Given the description of an element on the screen output the (x, y) to click on. 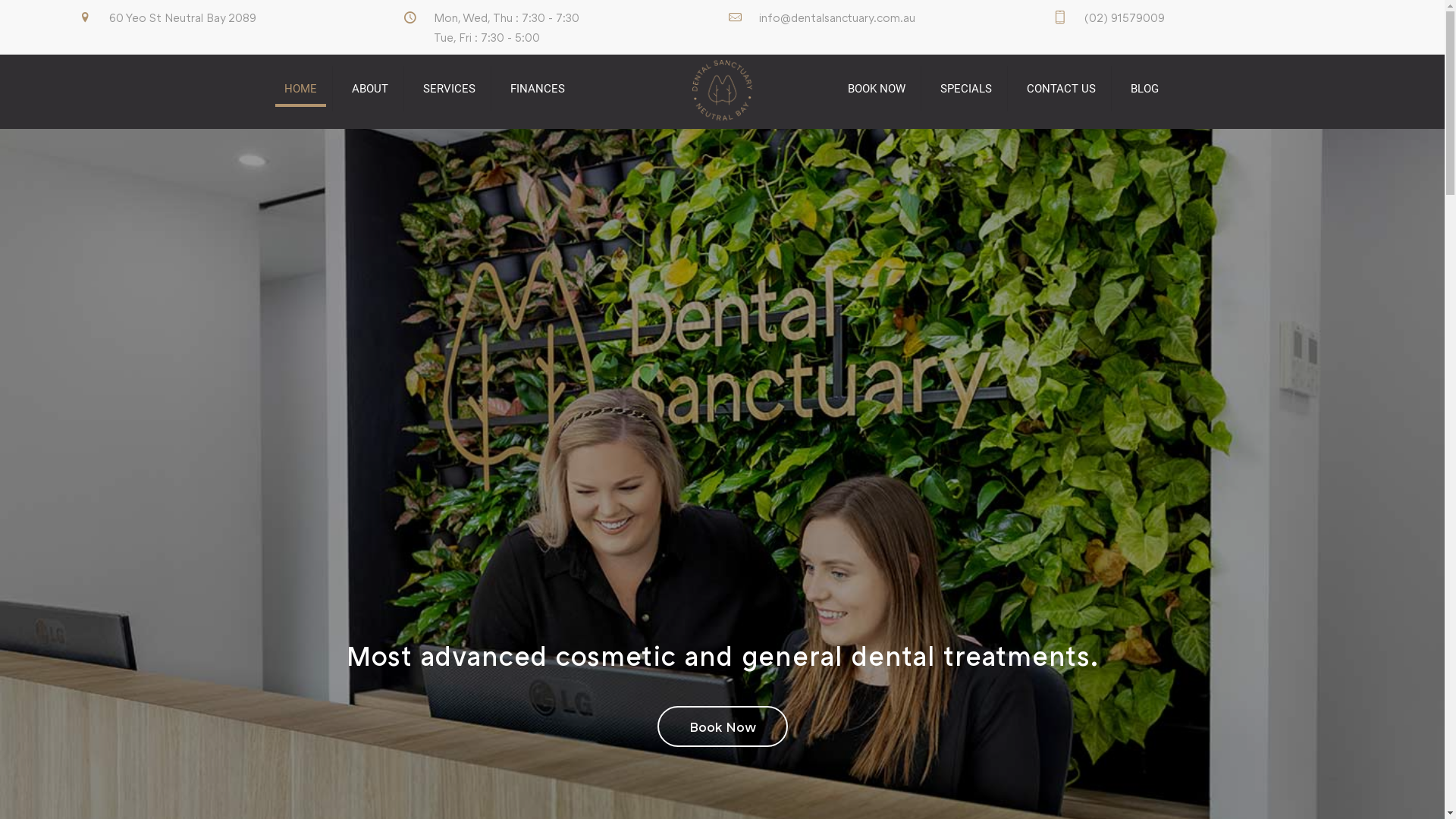
Dental Sanctuary Element type: hover (722, 88)
Book Now Element type: text (721, 726)
info@dentalsanctuary.com.au Element type: text (837, 17)
(02) 91579009 Element type: text (1124, 17)
FINANCES Element type: text (536, 88)
SPECIALS Element type: text (966, 88)
BOOK NOW Element type: text (876, 88)
HOME Element type: text (300, 88)
ABOUT Element type: text (370, 88)
CONTACT US Element type: text (1061, 88)
SERVICES Element type: text (449, 88)
BLOG Element type: text (1144, 88)
